Given the description of an element on the screen output the (x, y) to click on. 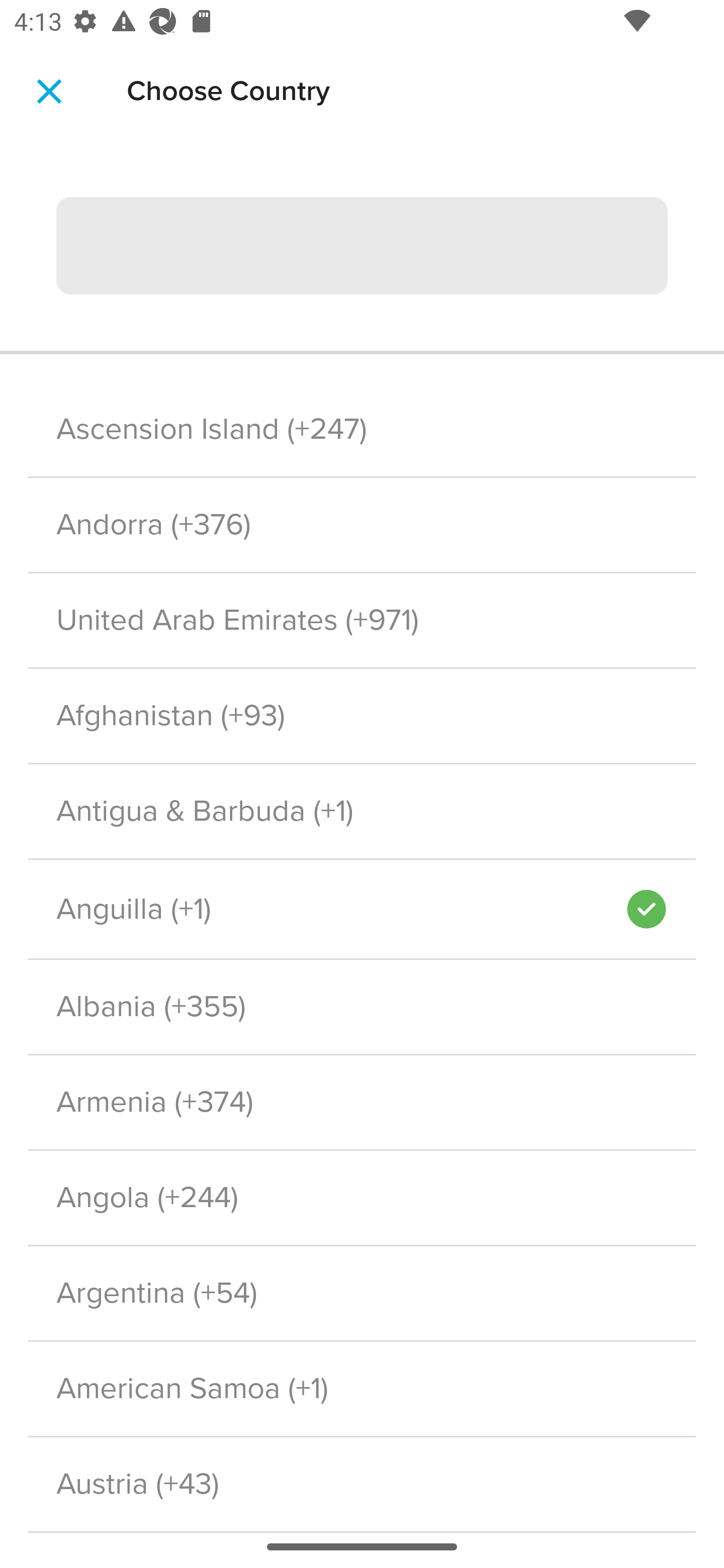
Navigate up (49, 91)
‍Ascension Island (+247) (361, 429)
‍Andorra (+376) (361, 525)
‍United Arab Emirates (+971) (361, 620)
‍Afghanistan (+93) (361, 716)
‍Antigua & Barbuda (+1) (361, 810)
‍Anguilla (+1) (326, 909)
‍Albania (+355) (361, 1006)
‍Armenia (+374) (361, 1102)
‍Angola (+244) (361, 1197)
‍Argentina (+54) (361, 1293)
‍American Samoa (+1) (361, 1389)
‍Austria (+43) (361, 1484)
